Given the description of an element on the screen output the (x, y) to click on. 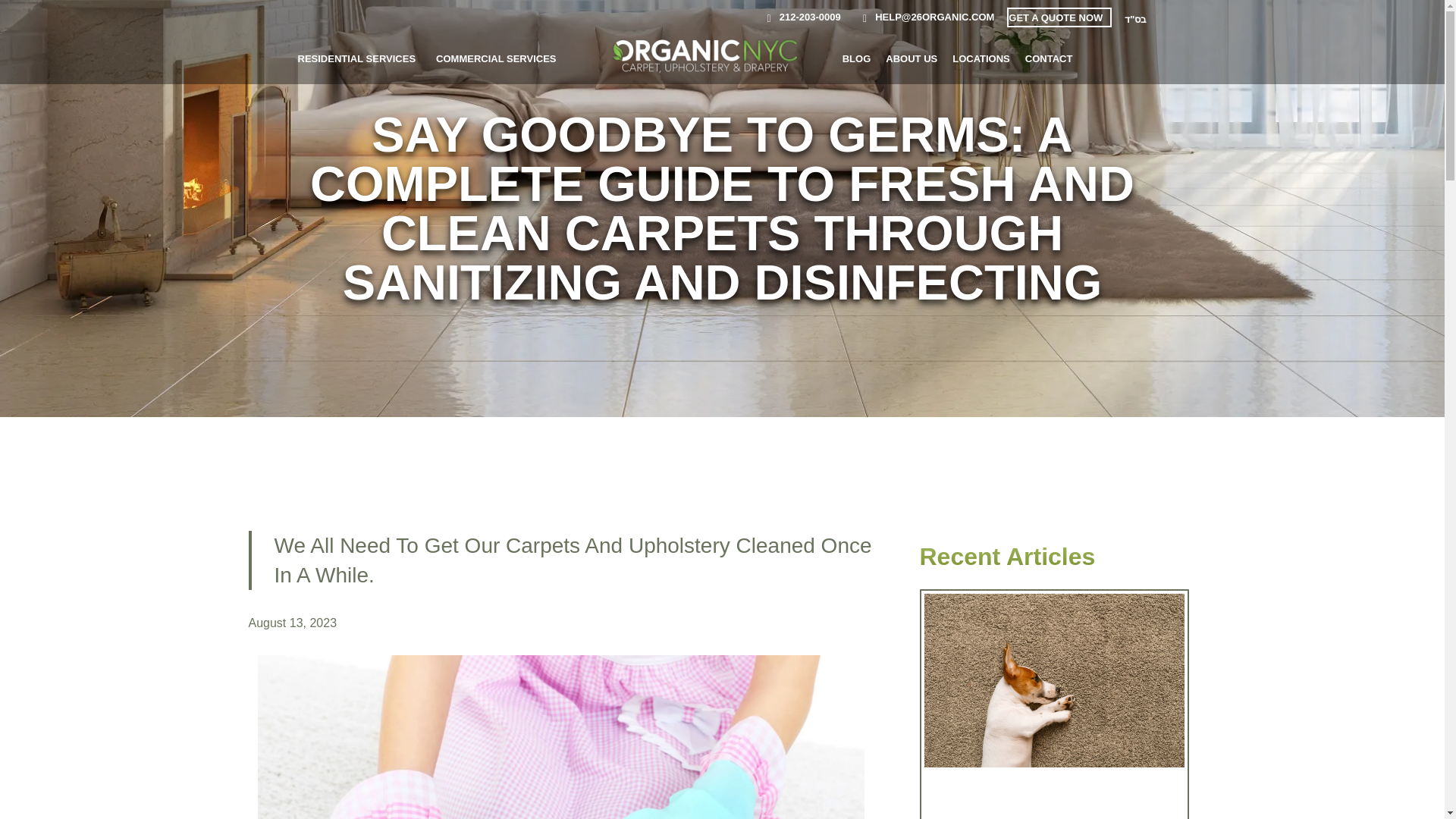
COMMERCIAL SERVICES (495, 58)
GET A QUOTE NOW (1055, 17)
212-203-0009 (798, 17)
RESIDENTIAL SERVICES (356, 58)
